Given the description of an element on the screen output the (x, y) to click on. 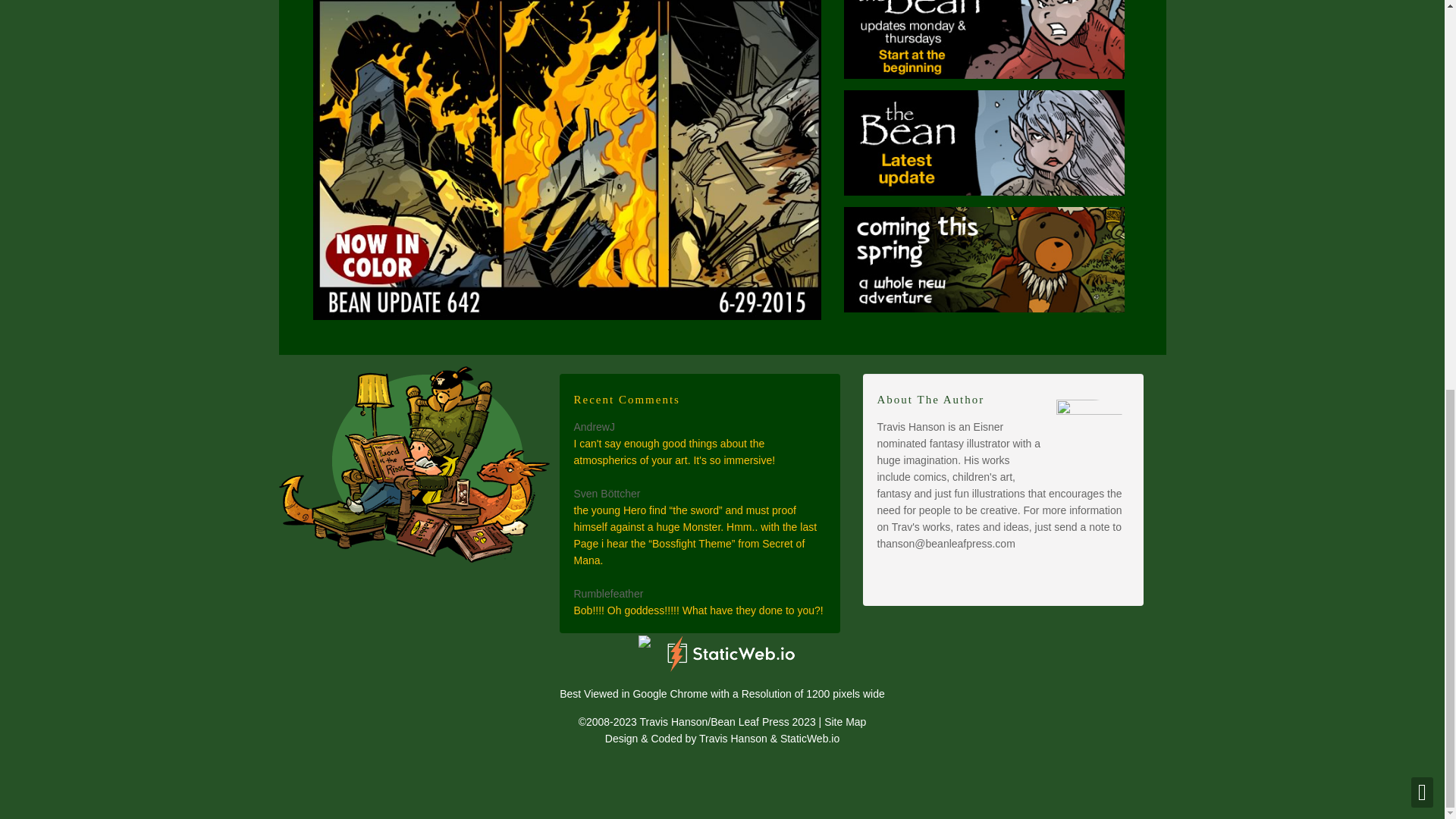
Bob!!!! Oh goddess!!!!! What have they done to you?! (697, 610)
Site Map (845, 720)
